Given the description of an element on the screen output the (x, y) to click on. 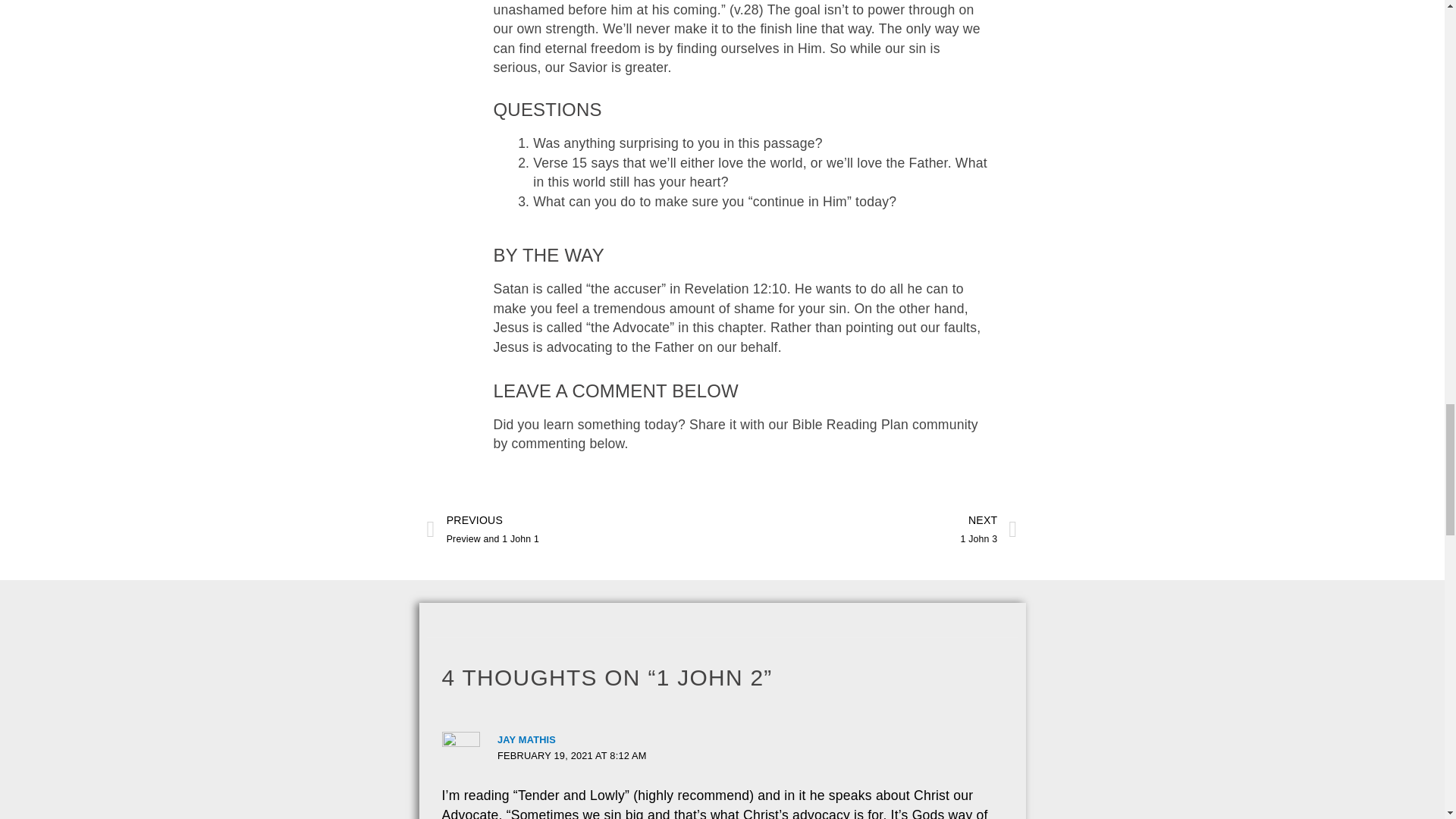
FEBRUARY 19, 2021 AT 8:12 AM (571, 755)
